Given the description of an element on the screen output the (x, y) to click on. 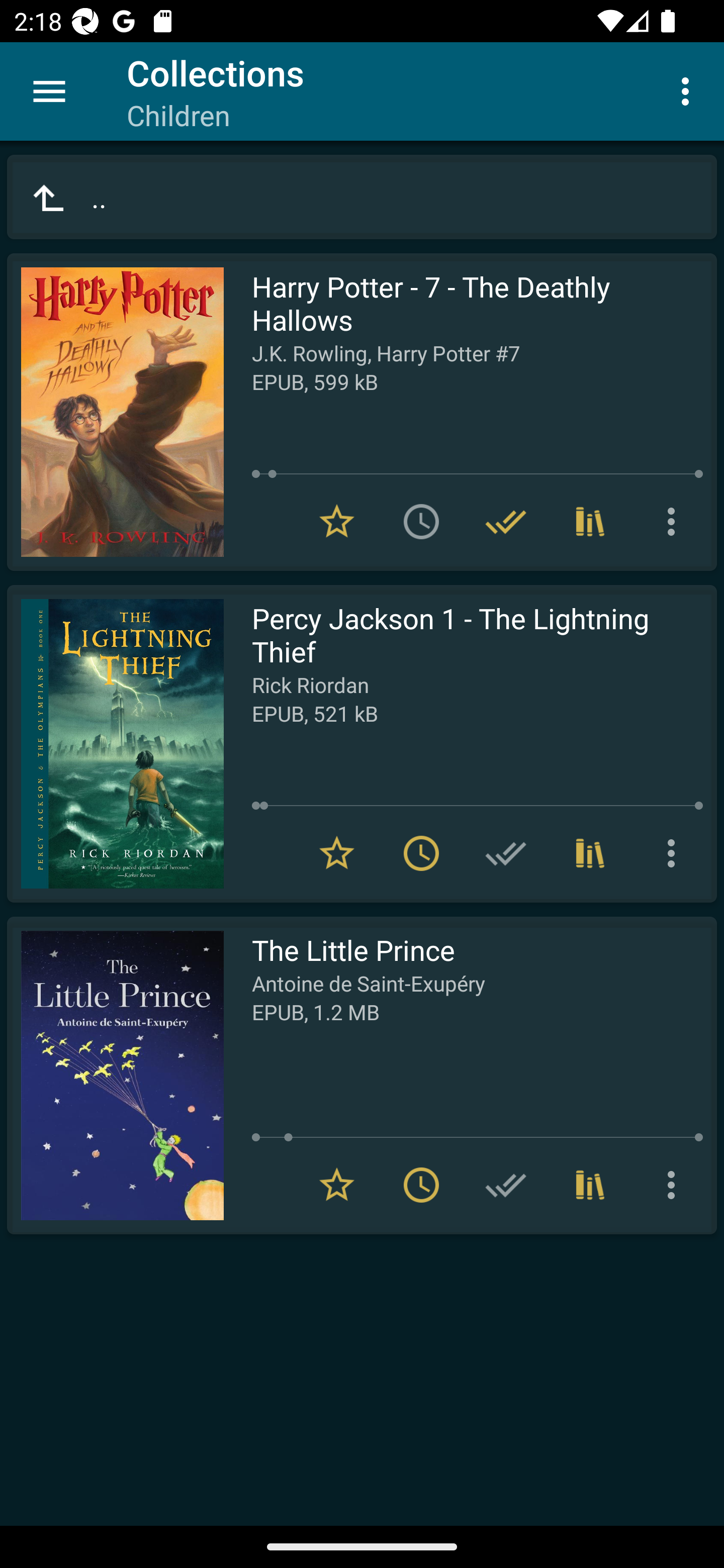
Menu (49, 91)
More options (688, 90)
.. (361, 197)
Read Harry Potter - 7 - The Deathly Hallows (115, 412)
Remove from Favorites (336, 521)
Add to To read (421, 521)
Remove from Have read (505, 521)
Collections (3) (590, 521)
More options (674, 521)
Read Percy Jackson 1 - The Lightning Thief (115, 743)
Remove from Favorites (336, 852)
Remove from To read (421, 852)
Add to Have read (505, 852)
Collections (1) (590, 852)
More options (674, 852)
Read The Little Prince (115, 1075)
Remove from Favorites (336, 1185)
Remove from To read (421, 1185)
Add to Have read (505, 1185)
Collections (1) (590, 1185)
More options (674, 1185)
